Given the description of an element on the screen output the (x, y) to click on. 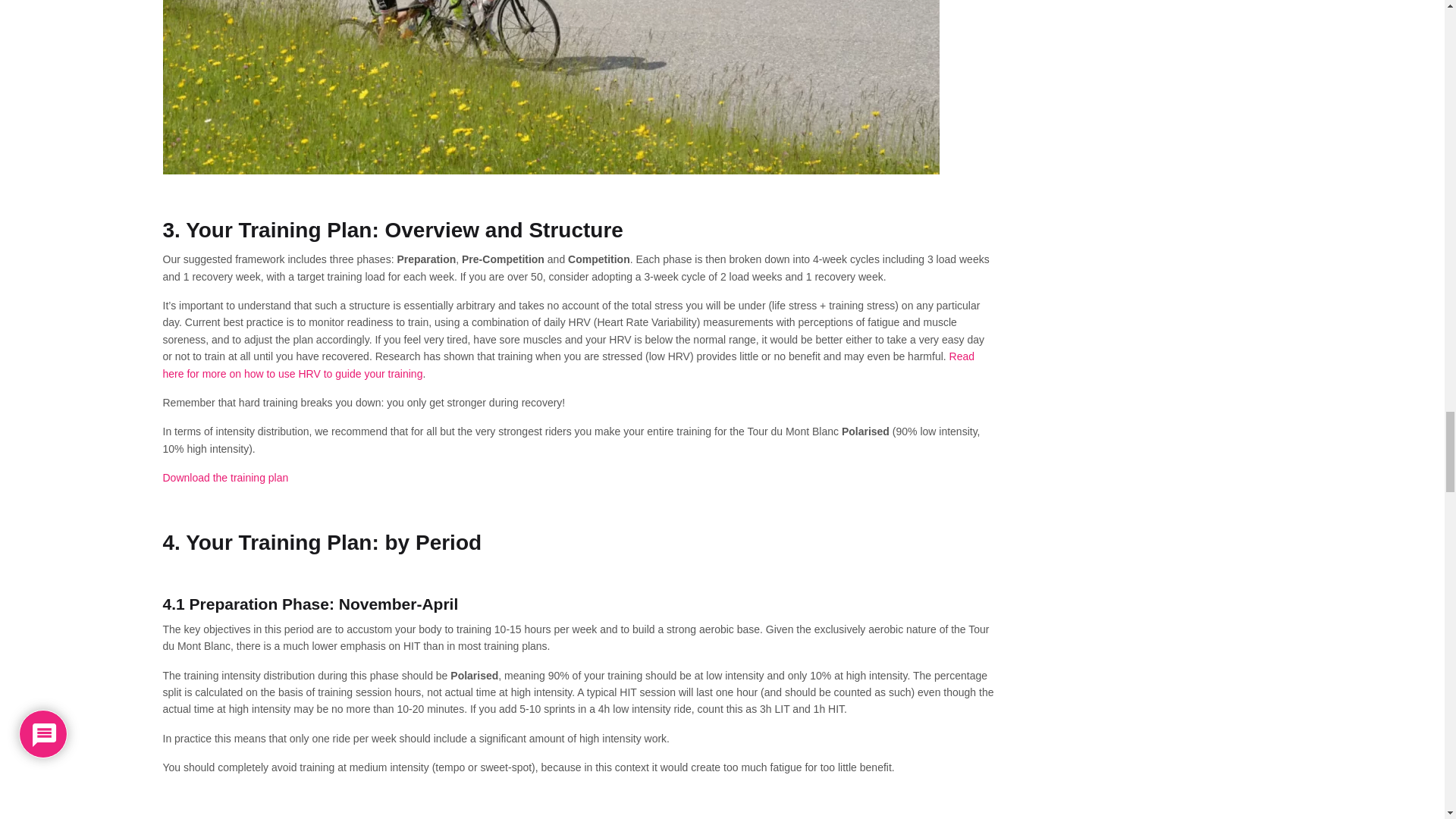
Read here for more on how to use HRV to guide your training (567, 364)
